Given the description of an element on the screen output the (x, y) to click on. 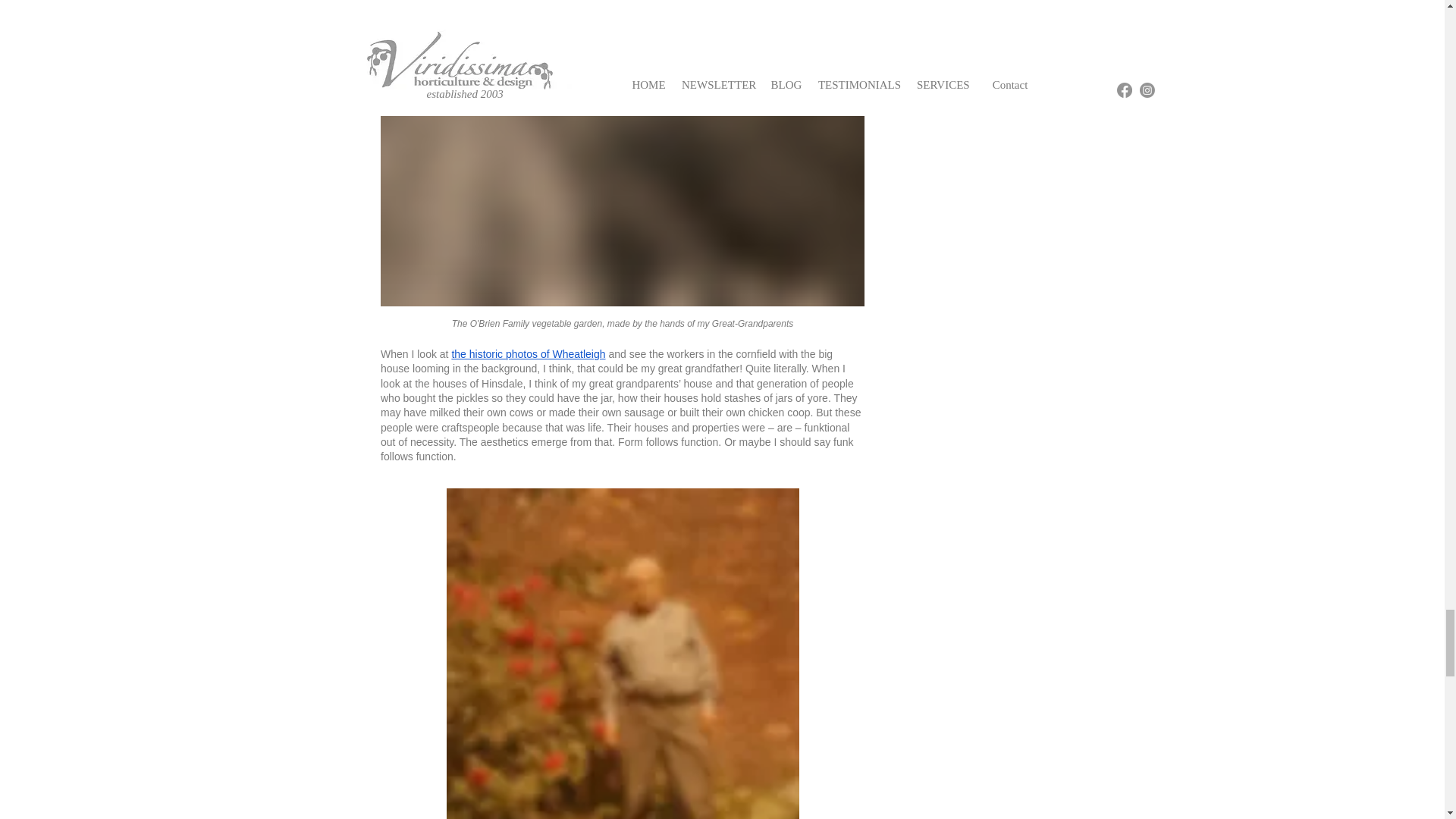
the historic photos of Wheatleigh (528, 354)
